Given the description of an element on the screen output the (x, y) to click on. 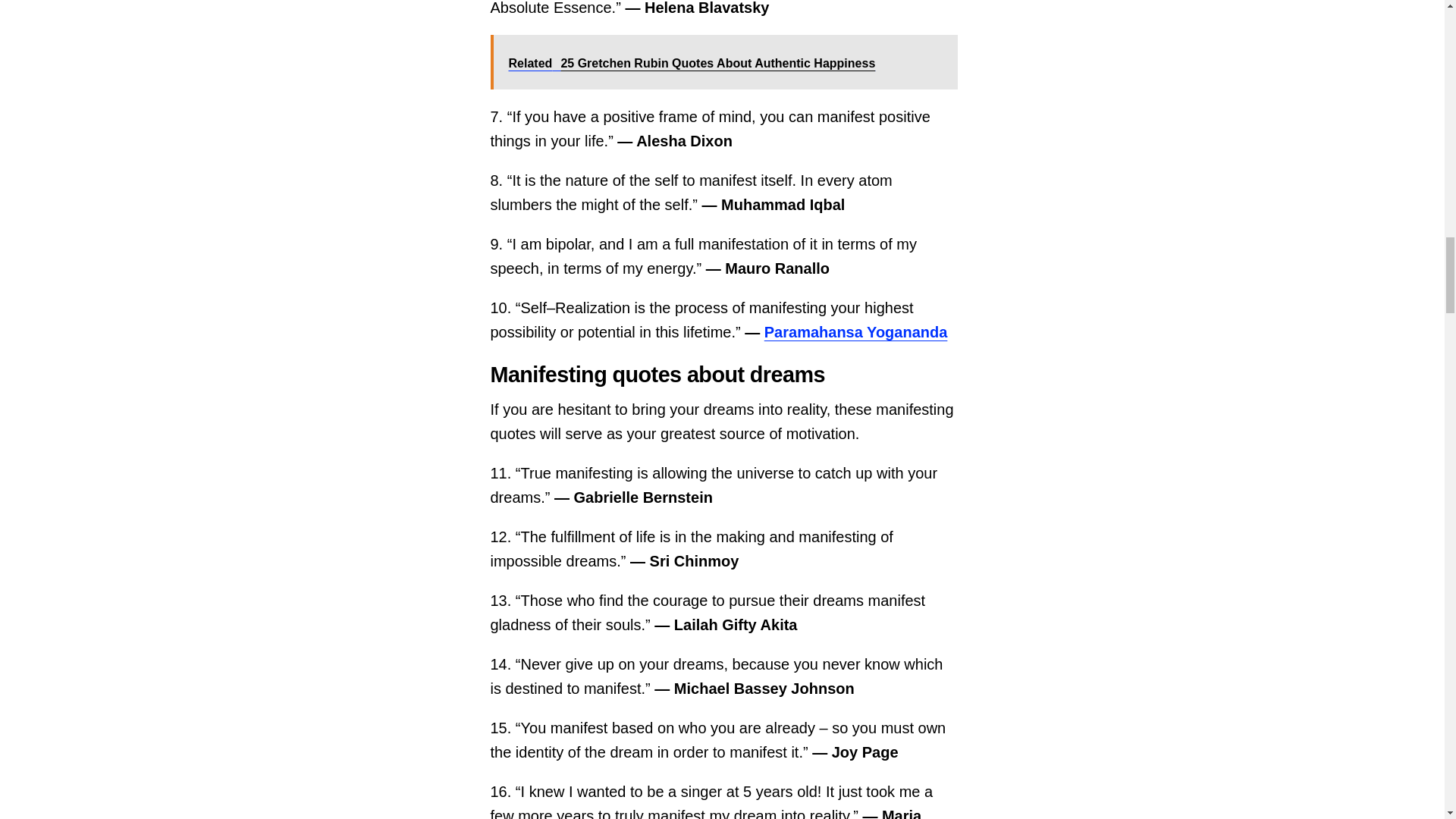
Paramahansa Yogananda (855, 331)
Related  25 Gretchen Rubin Quotes About Authentic Happiness (722, 62)
Paramahansa Yogananda (855, 331)
